Given the description of an element on the screen output the (x, y) to click on. 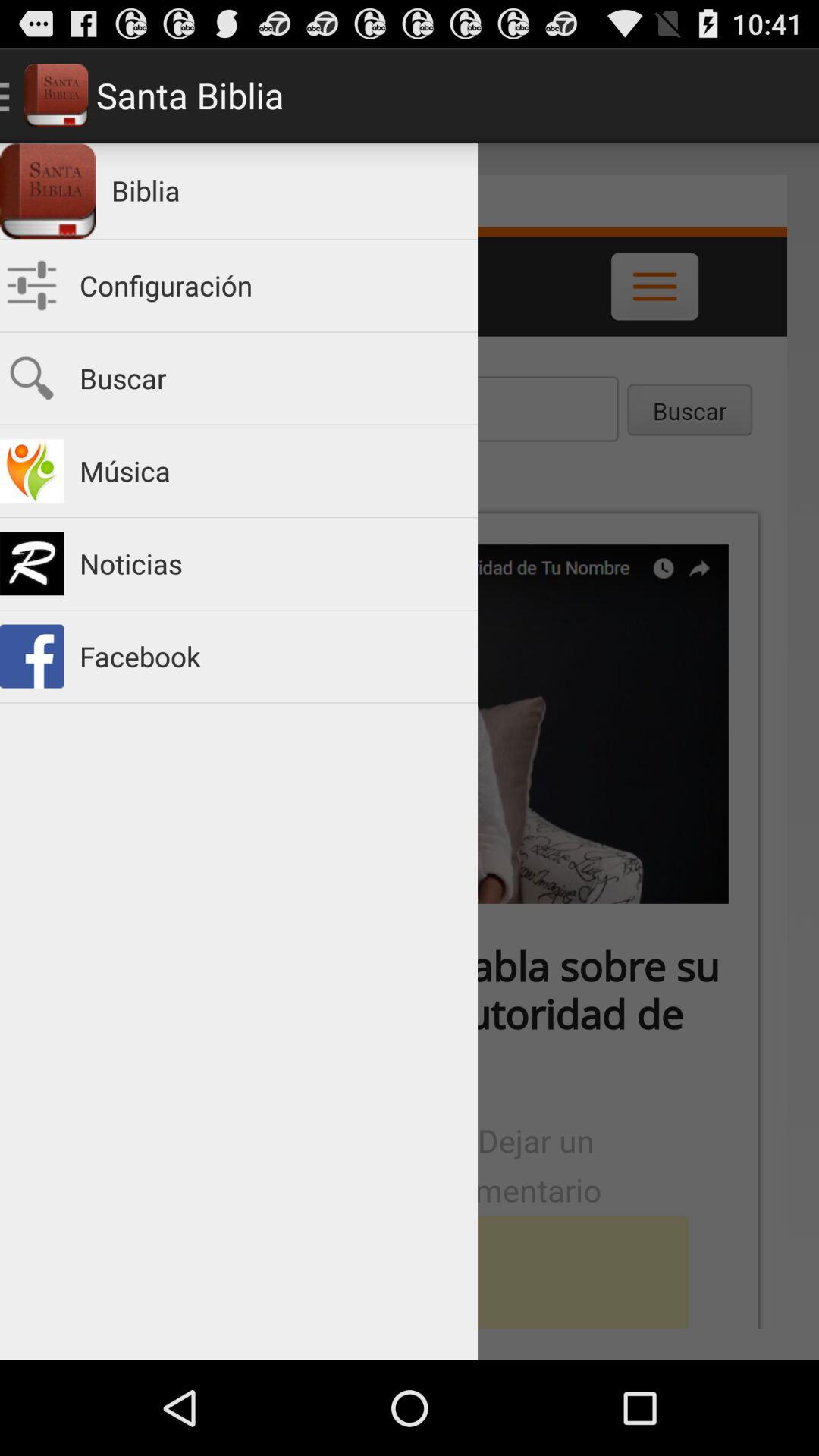
press the icon above buscar (270, 285)
